Given the description of an element on the screen output the (x, y) to click on. 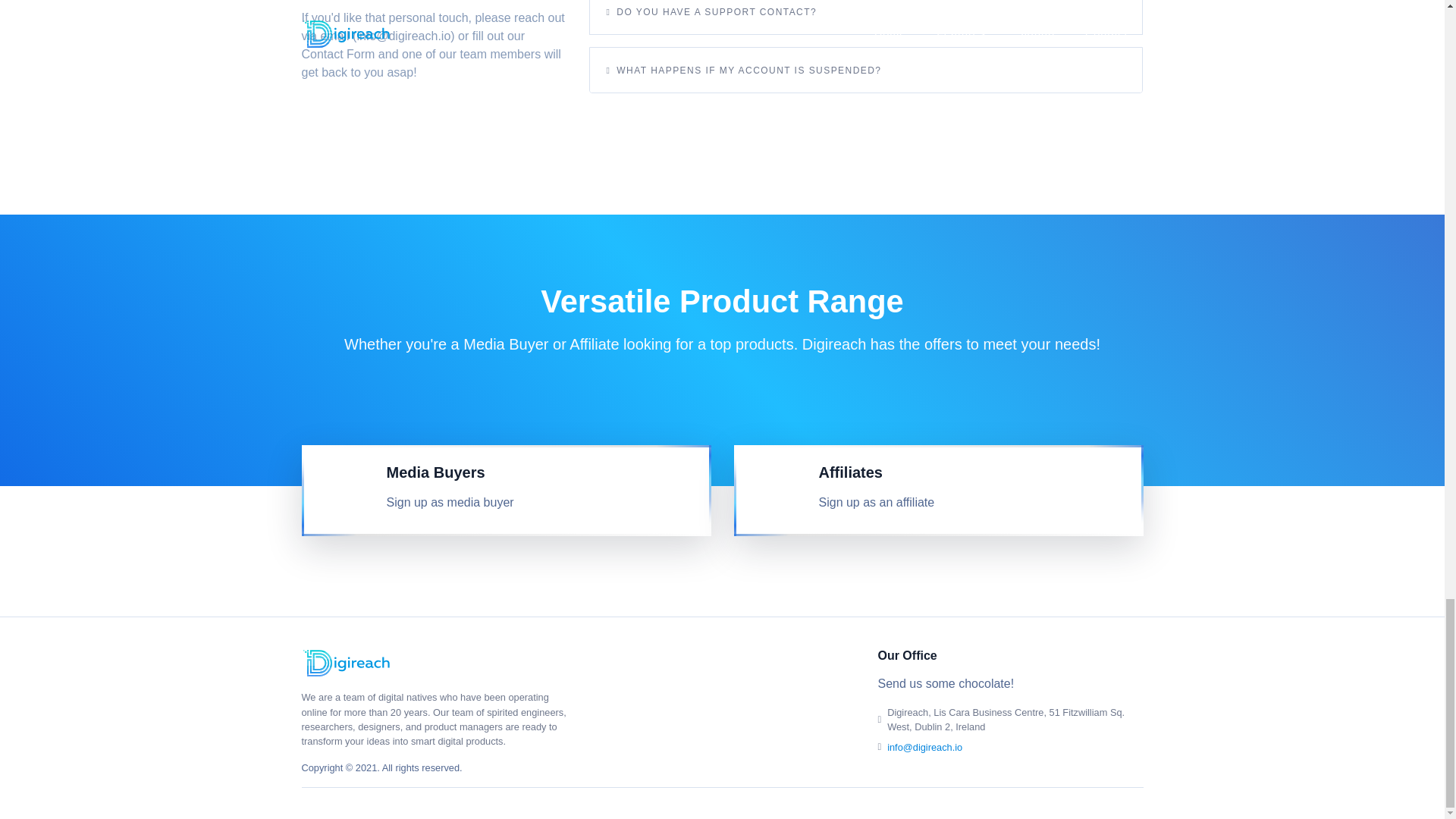
WHAT HAPPENS IF MY ACCOUNT IS SUSPENDED? (743, 70)
DO YOU HAVE A SUPPORT CONTACT? (710, 12)
